Given the description of an element on the screen output the (x, y) to click on. 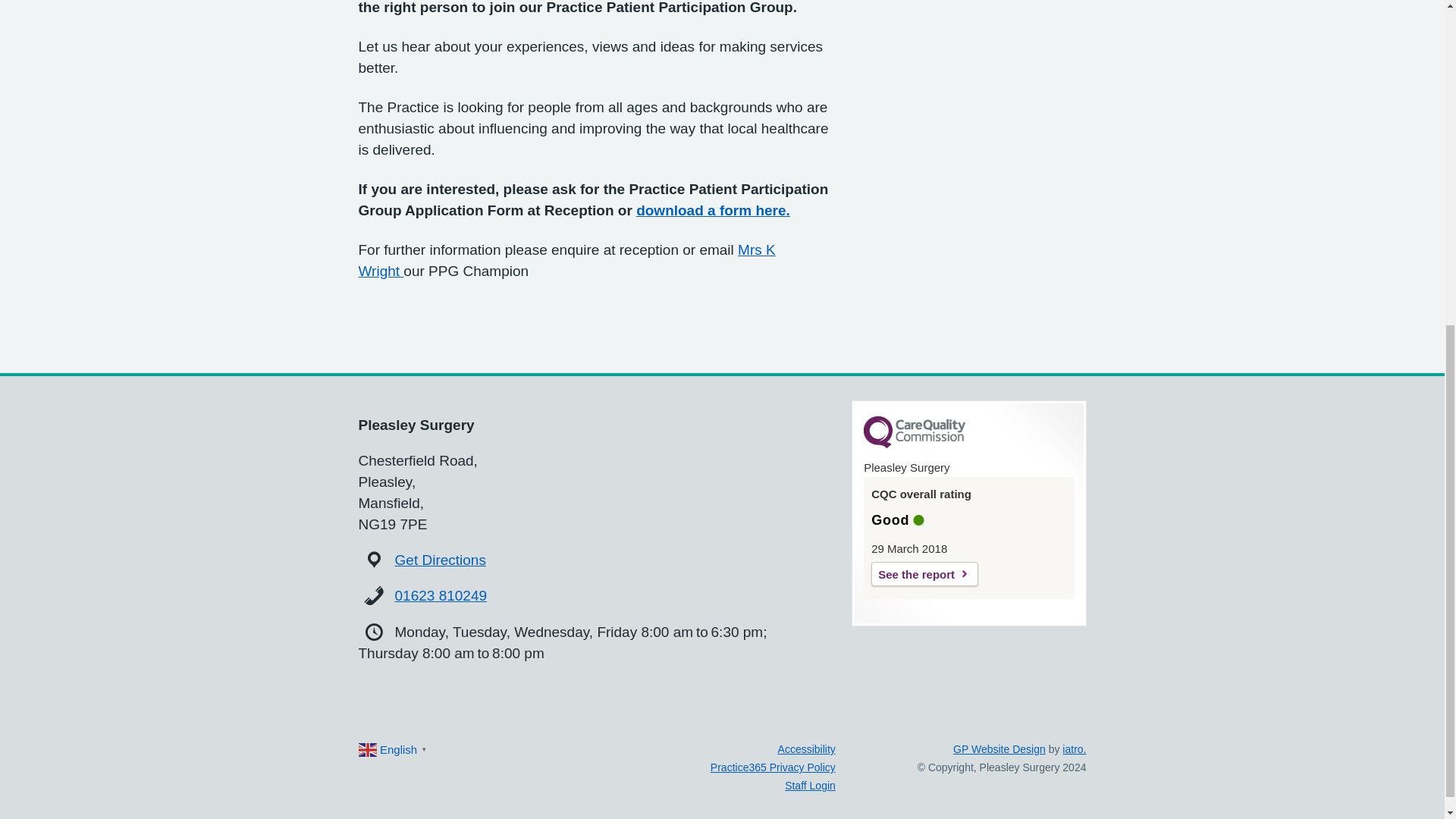
download a form here. (713, 210)
Mrs K Wright  (566, 260)
01623 810249 (440, 595)
CQC Logo (914, 444)
Get Directions (440, 560)
See the report (924, 573)
